Given the description of an element on the screen output the (x, y) to click on. 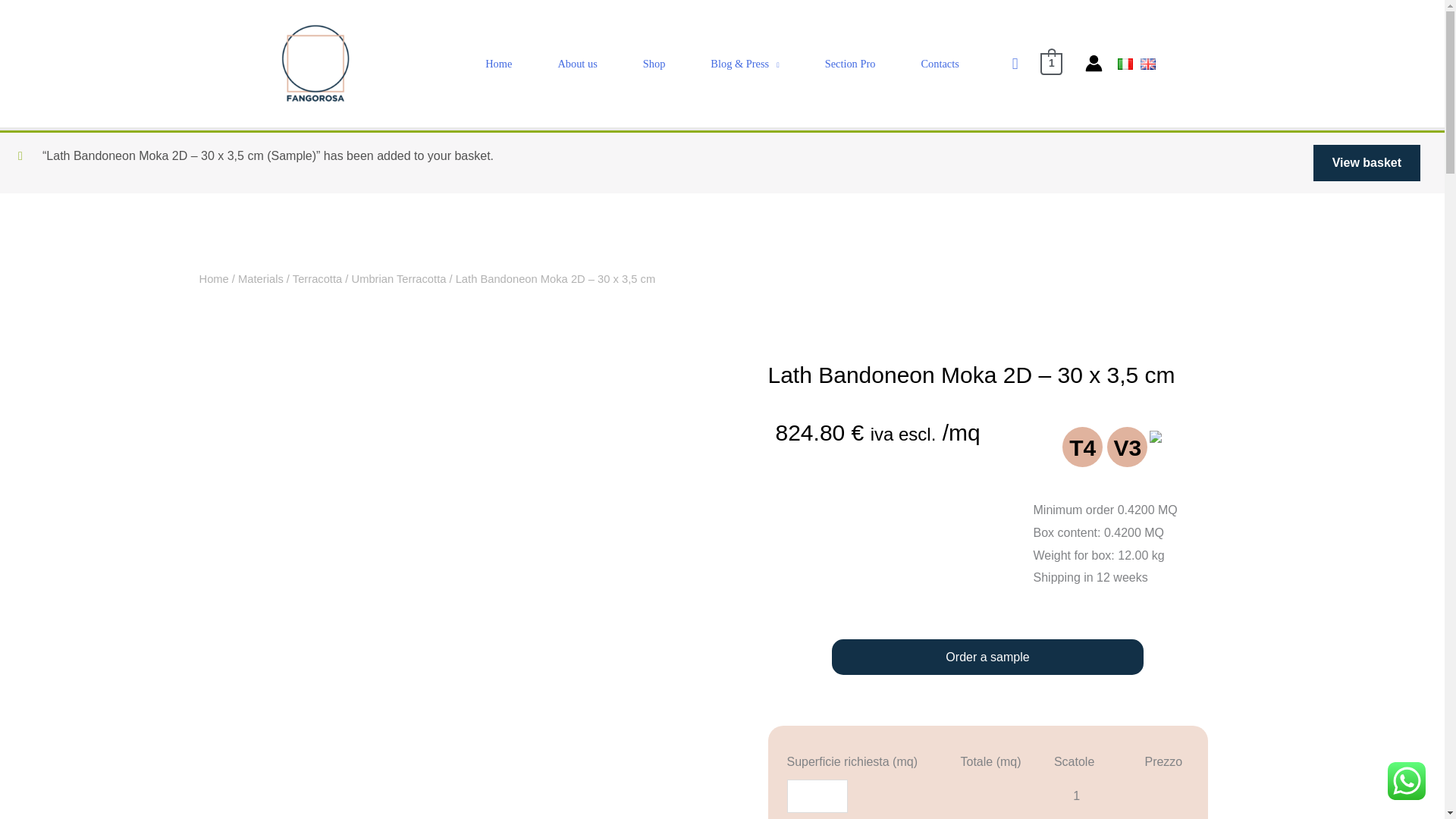
Section Pro (850, 63)
Home (498, 63)
1 (1051, 62)
Contacts (939, 63)
Search (19, 18)
Materials (260, 278)
Terracotta (317, 278)
About us (577, 63)
Home (213, 278)
View your shopping basket (1051, 62)
